Given the description of an element on the screen output the (x, y) to click on. 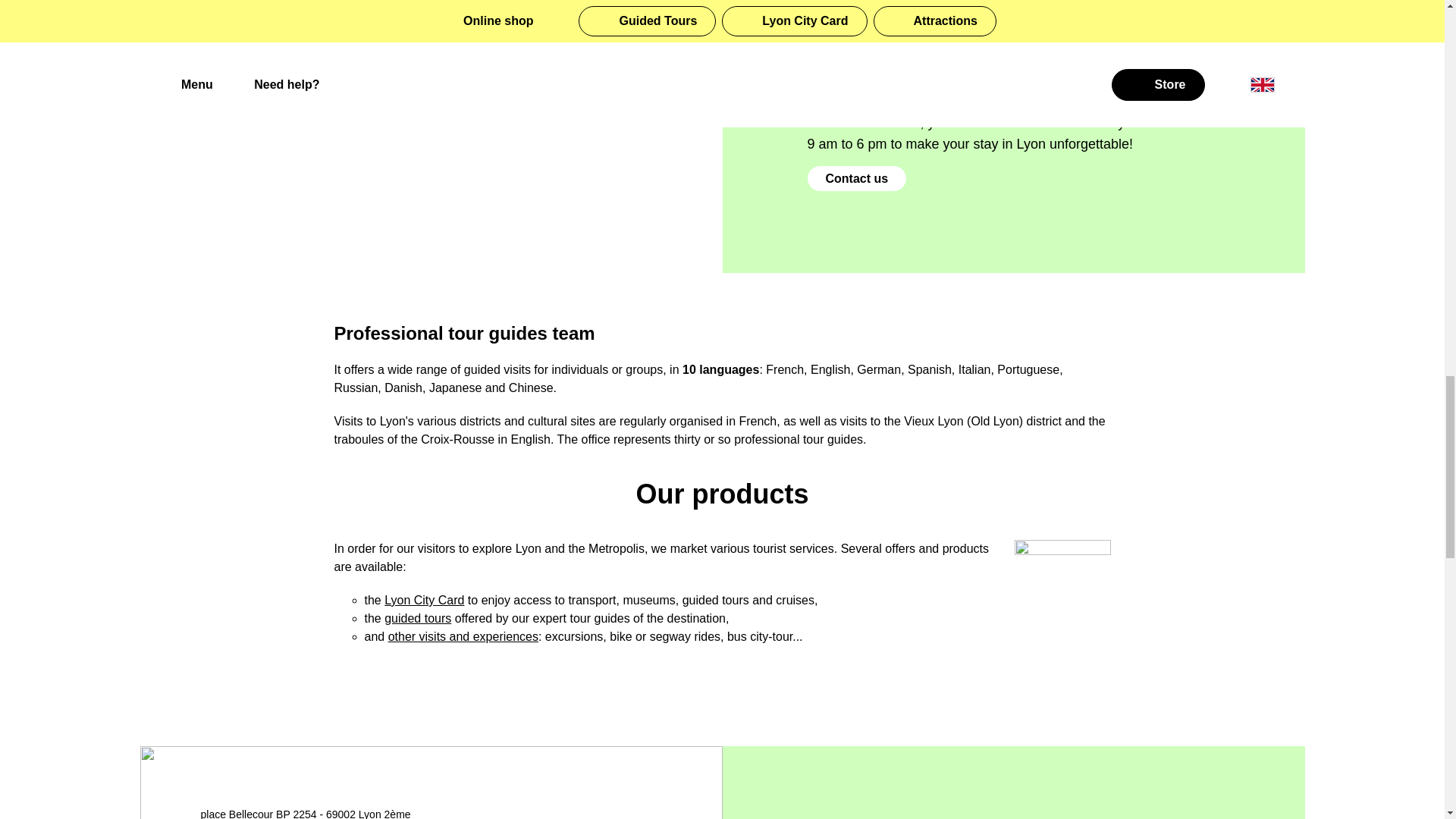
other visits and experiences (463, 635)
Contact us (855, 178)
Lyon City Card (424, 599)
guided tours (417, 617)
